Given the description of an element on the screen output the (x, y) to click on. 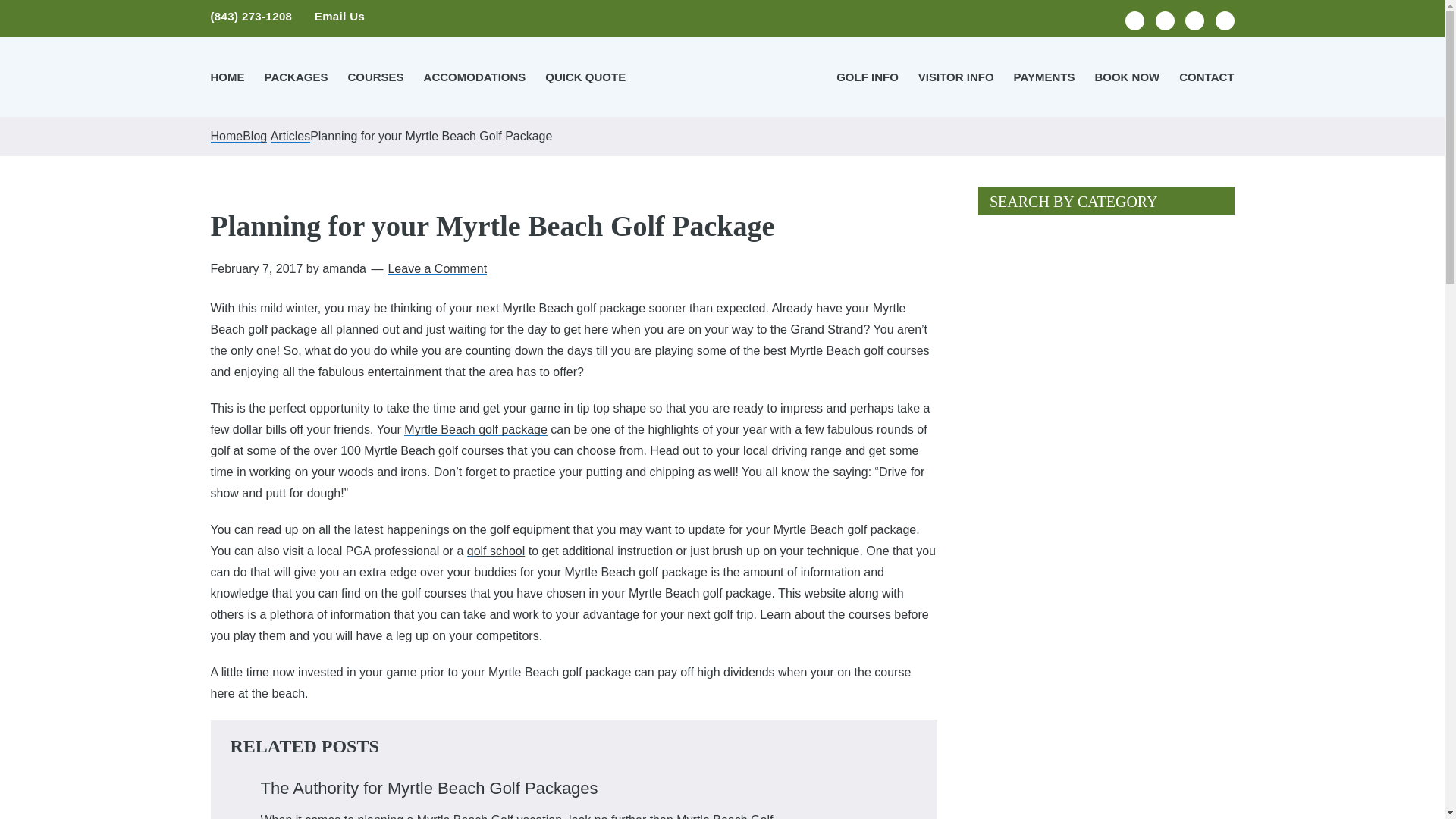
Facebook (1134, 19)
Instagram (1194, 19)
Vimeo (1165, 19)
Email Us (339, 15)
Myrtle Beach Golf Authority (721, 76)
RSS (1223, 19)
